Given the description of an element on the screen output the (x, y) to click on. 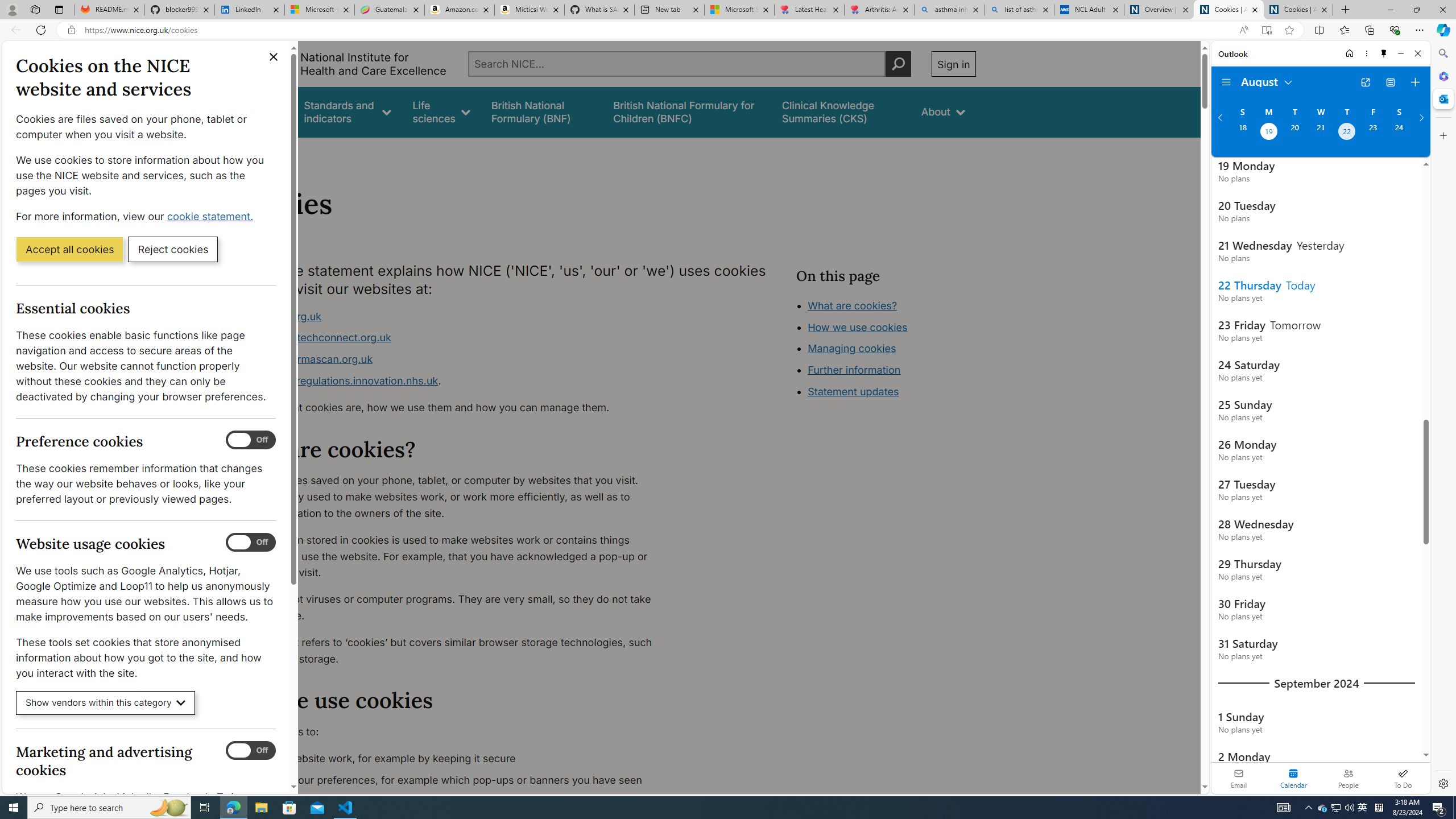
Tuesday, August 20, 2024.  (1294, 132)
LinkedIn (249, 9)
Statement updates (853, 391)
Selected calendar module. Date today is 22 (1293, 777)
